Given the description of an element on the screen output the (x, y) to click on. 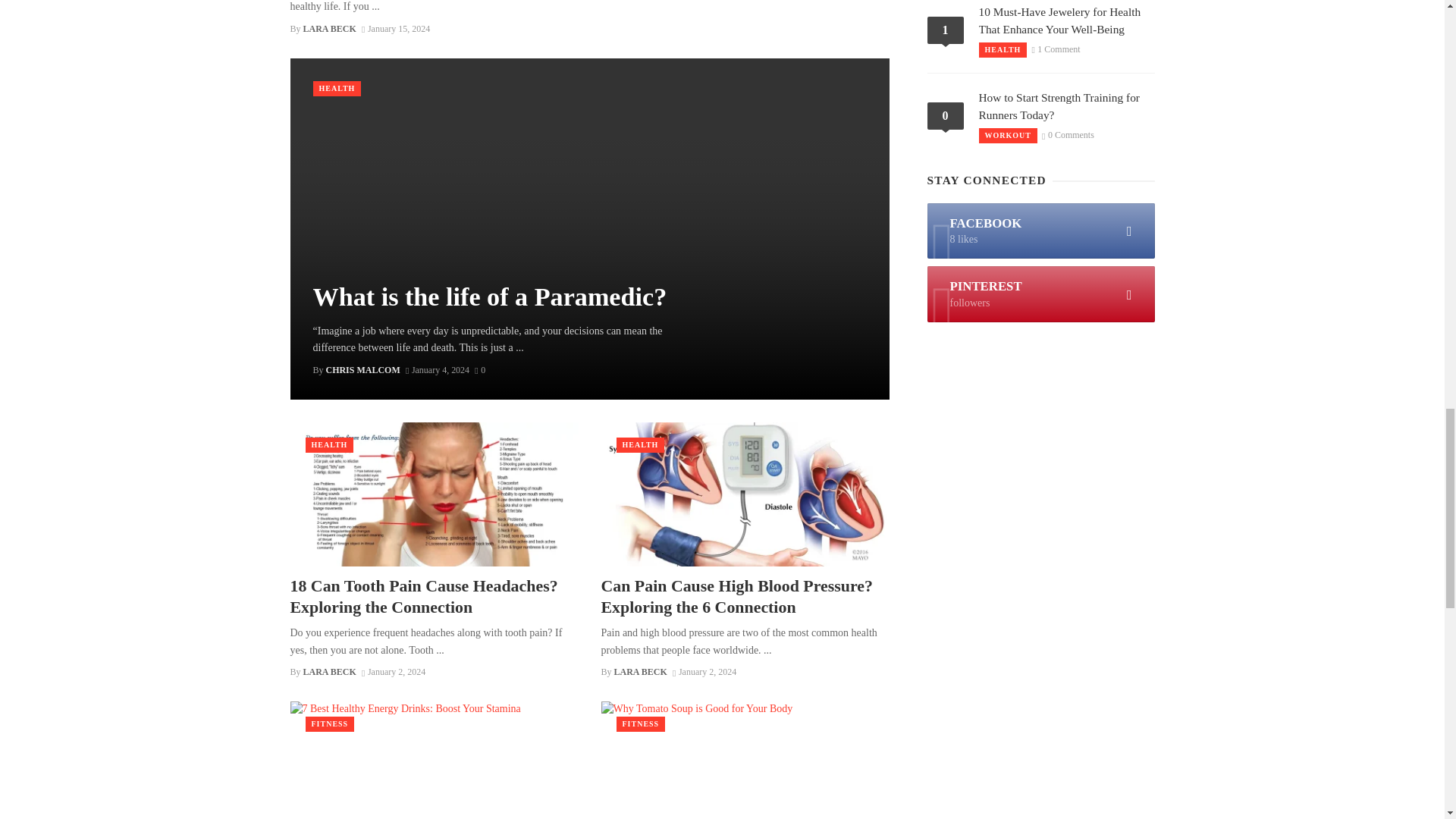
January 15, 2024 at 1:32 pm (395, 28)
January 4, 2024 at 7:28 pm (437, 369)
January 2, 2024 at 10:39 am (393, 671)
0 Comments (479, 369)
